Given the description of an element on the screen output the (x, y) to click on. 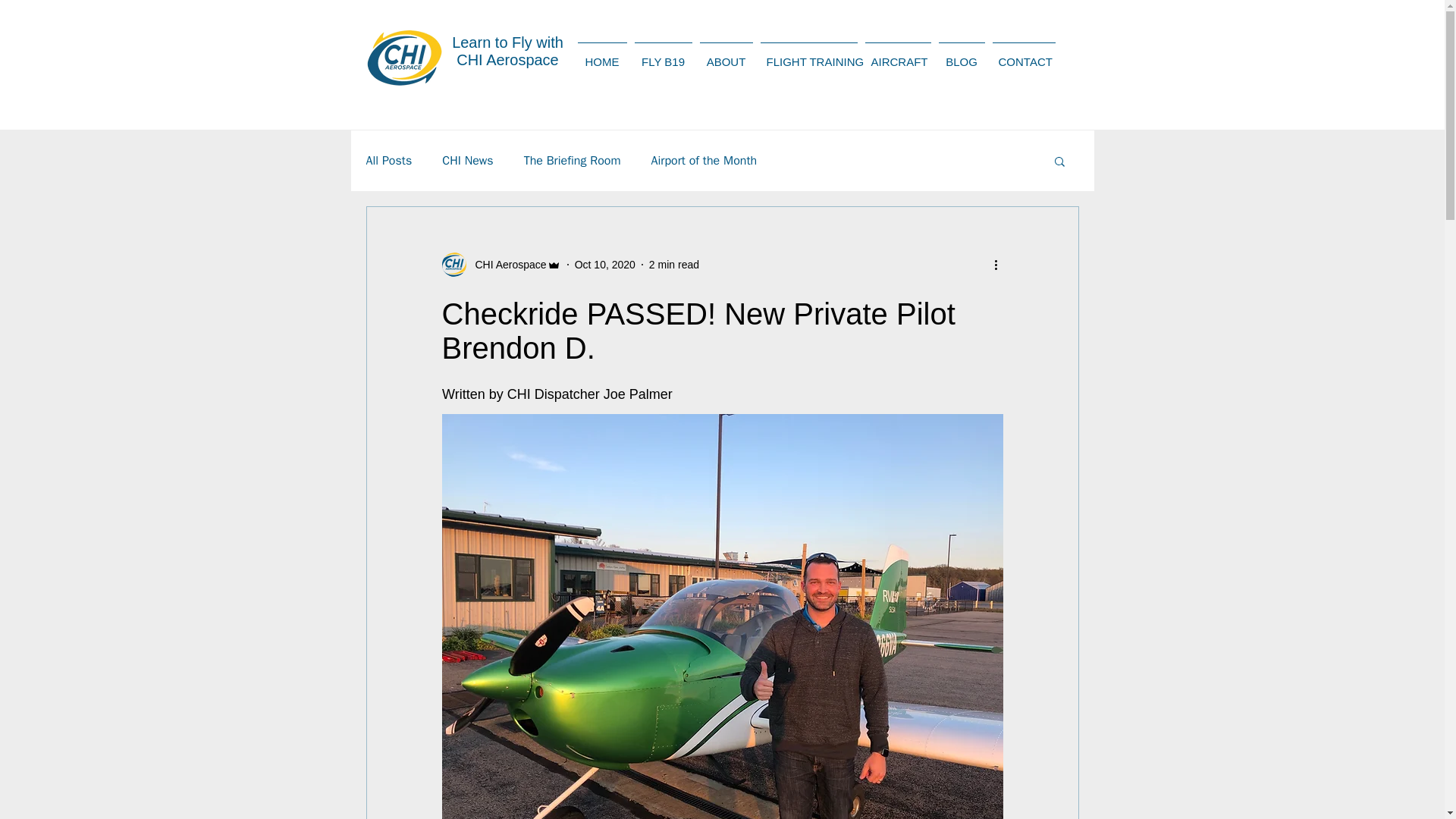
BLOG (961, 54)
Airport of the Month (703, 160)
Oct 10, 2020 (604, 263)
CONTACT (1023, 54)
CHI Aerospace (500, 264)
2 min read (673, 263)
HOME (601, 54)
The Briefing Room (572, 160)
All Posts (388, 160)
Learn to Fly with CHI Aerospace (507, 50)
CHI Aerospace (505, 263)
CHI News (467, 160)
FLY B19 (662, 54)
